Given the description of an element on the screen output the (x, y) to click on. 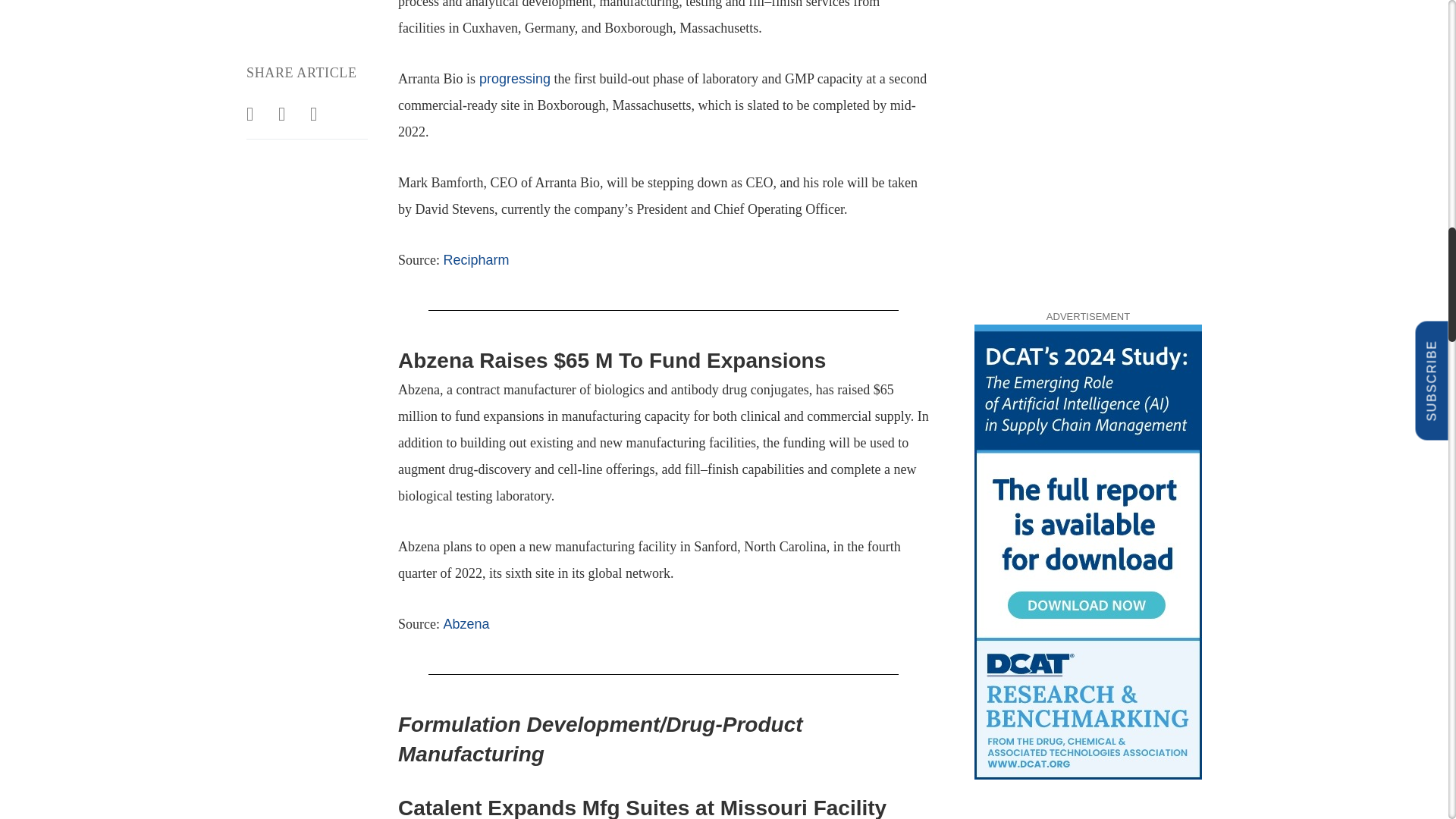
Abzena (465, 623)
progressing (513, 78)
Recipharm (475, 259)
